Given the description of an element on the screen output the (x, y) to click on. 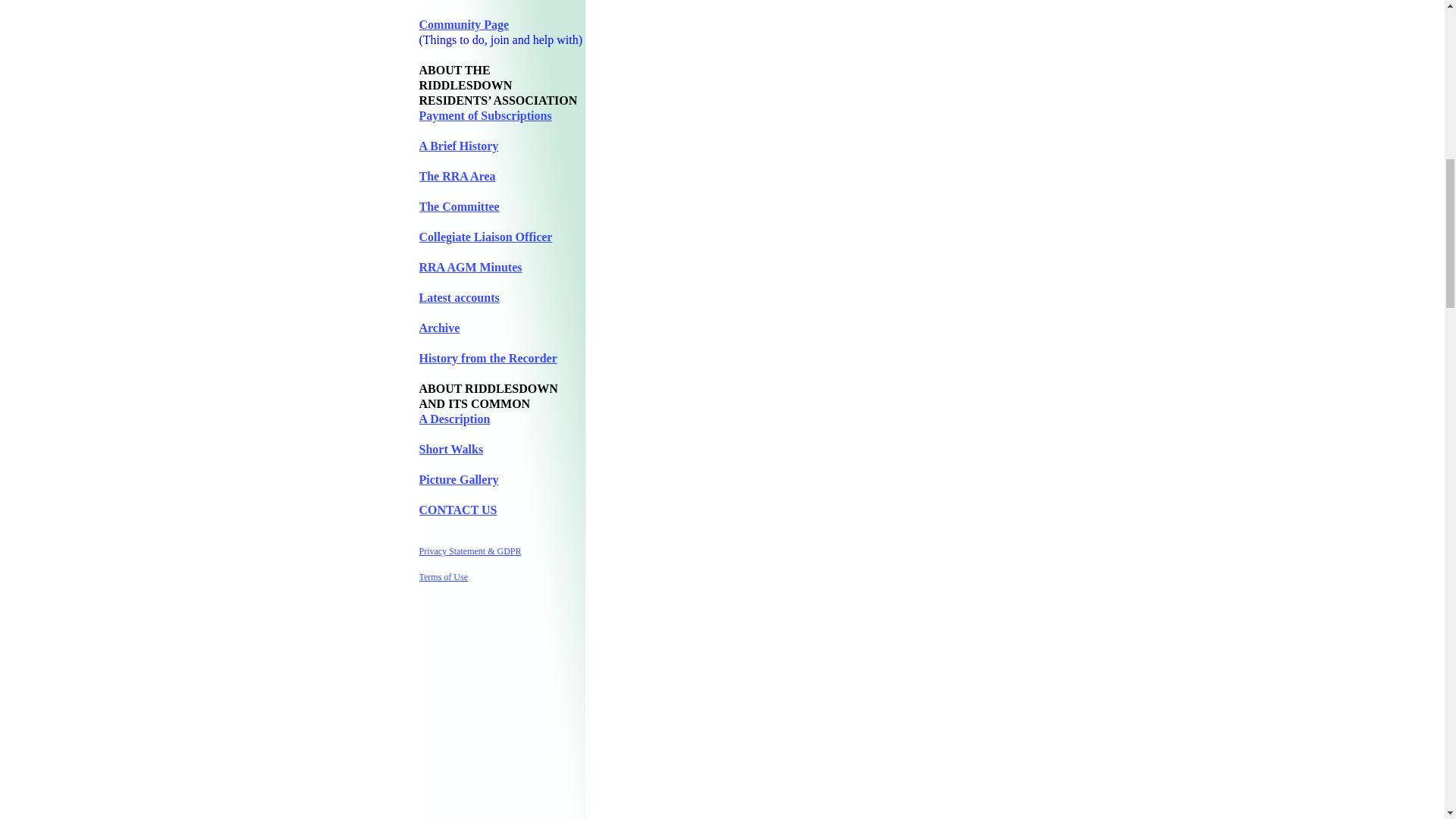
A Brief History (458, 145)
Terms of Use (443, 576)
Archive (439, 327)
History from the Recorder (487, 358)
Short Walks (451, 449)
Community Page (463, 24)
Payment of Subscriptions (485, 115)
The Committee (459, 205)
CONTACT US (457, 509)
